Given the description of an element on the screen output the (x, y) to click on. 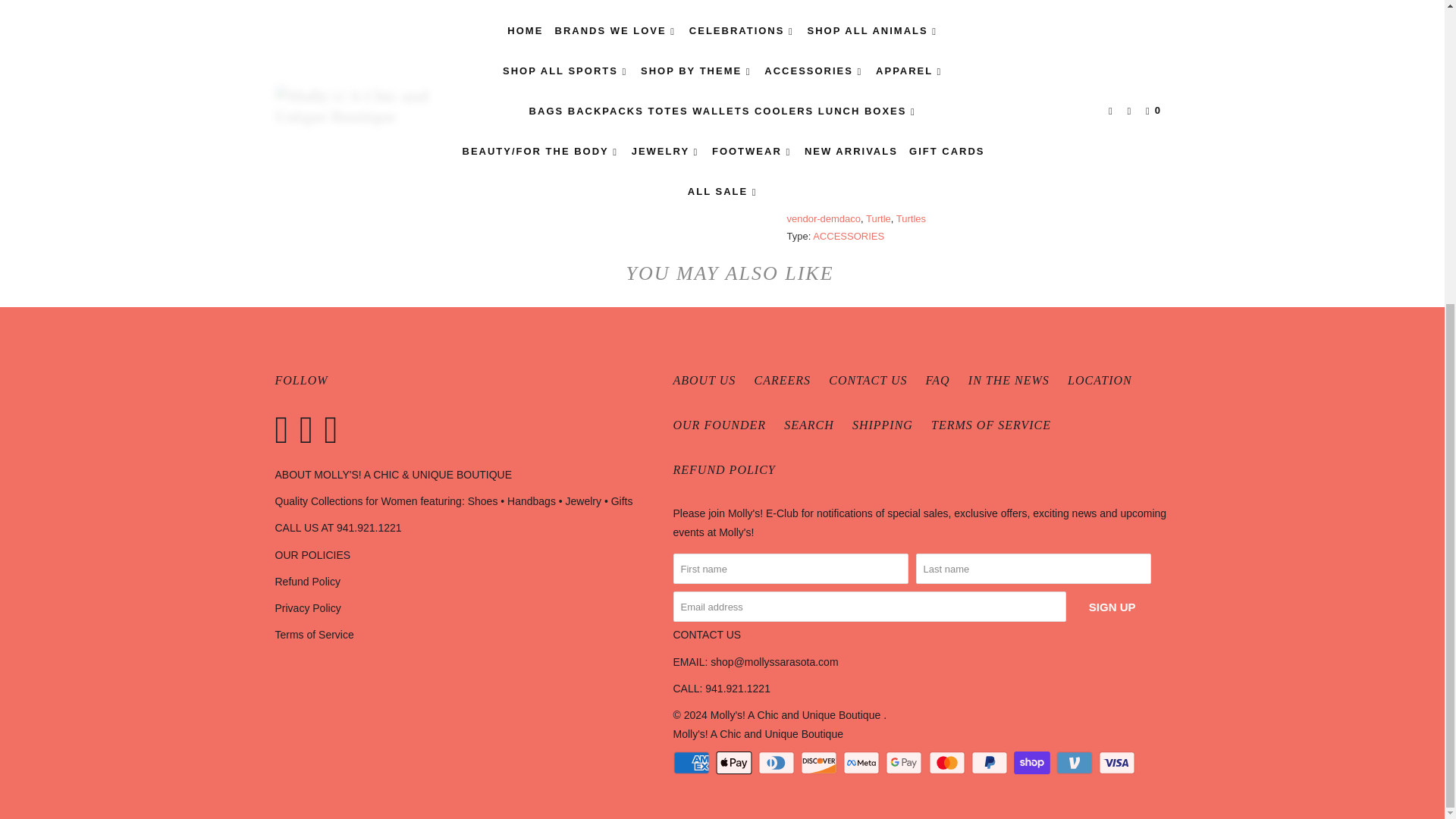
Visa (1118, 762)
PayPal (990, 762)
Venmo (1076, 762)
Diners Club (777, 762)
Discover (820, 762)
Meta Pay (862, 762)
Turtles (1046, 183)
Accessories (866, 183)
Shop Pay (1032, 762)
All INVENTORY (933, 183)
Mastercard (948, 762)
Sign Up (1112, 606)
American Express (692, 762)
Apple Pay (735, 762)
Google Pay (904, 762)
